Given the description of an element on the screen output the (x, y) to click on. 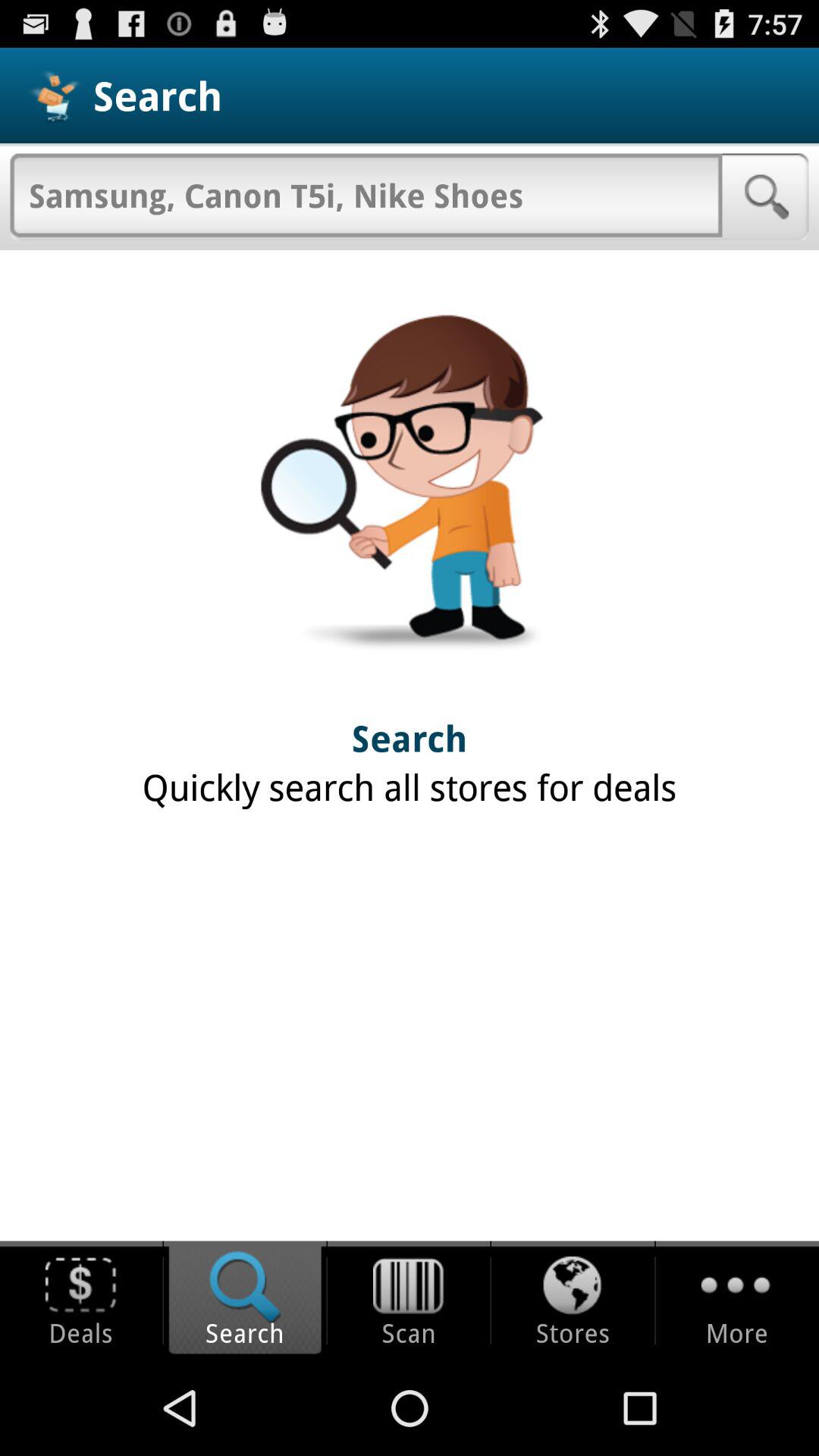
enter search term (366, 195)
